Given the description of an element on the screen output the (x, y) to click on. 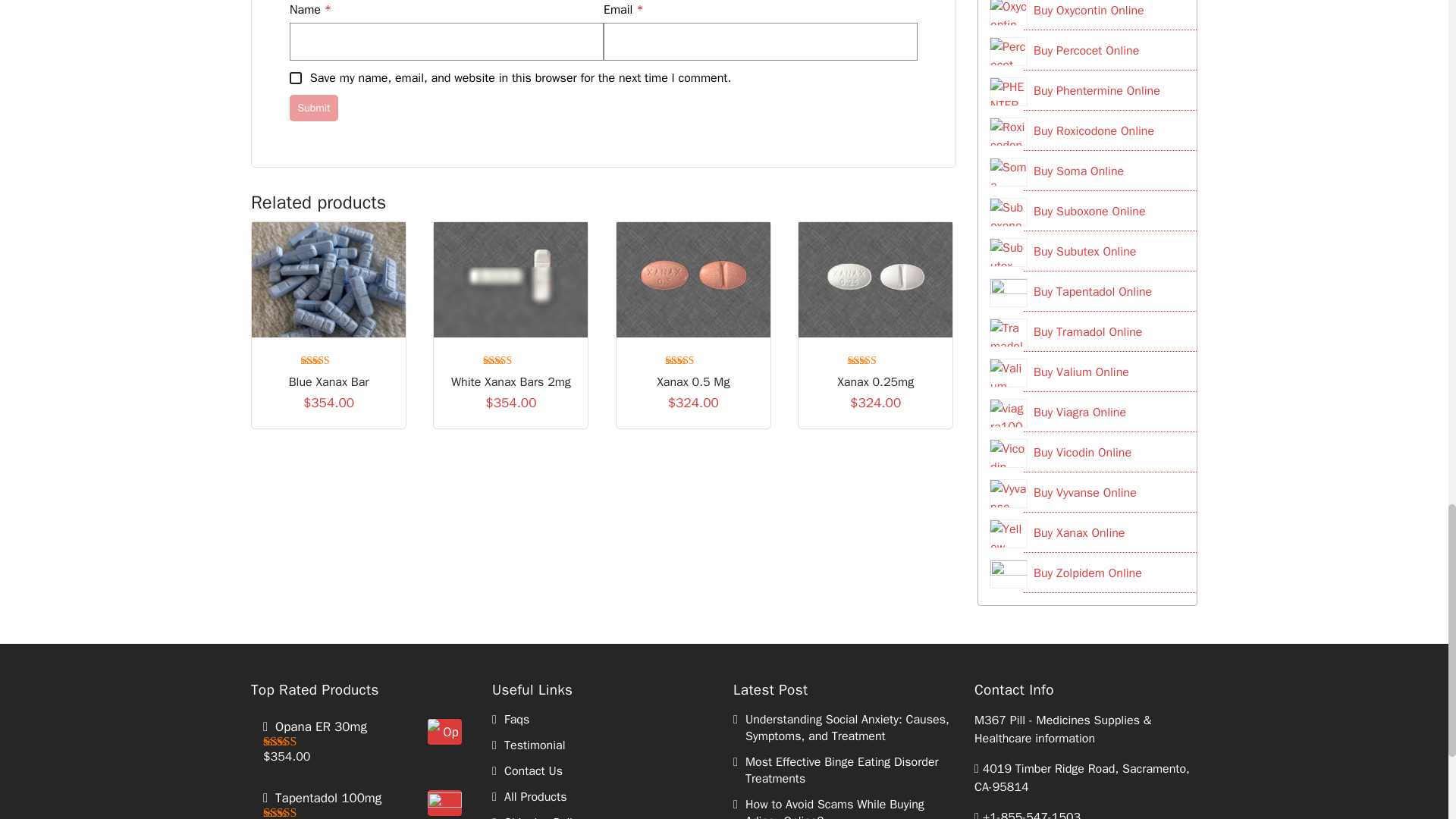
Rated 4.60 out of 5 (328, 358)
yes (295, 78)
Submit (313, 108)
Rated 4.60 out of 5 (692, 358)
Rated 4.40 out of 5 (510, 358)
